Given the description of an element on the screen output the (x, y) to click on. 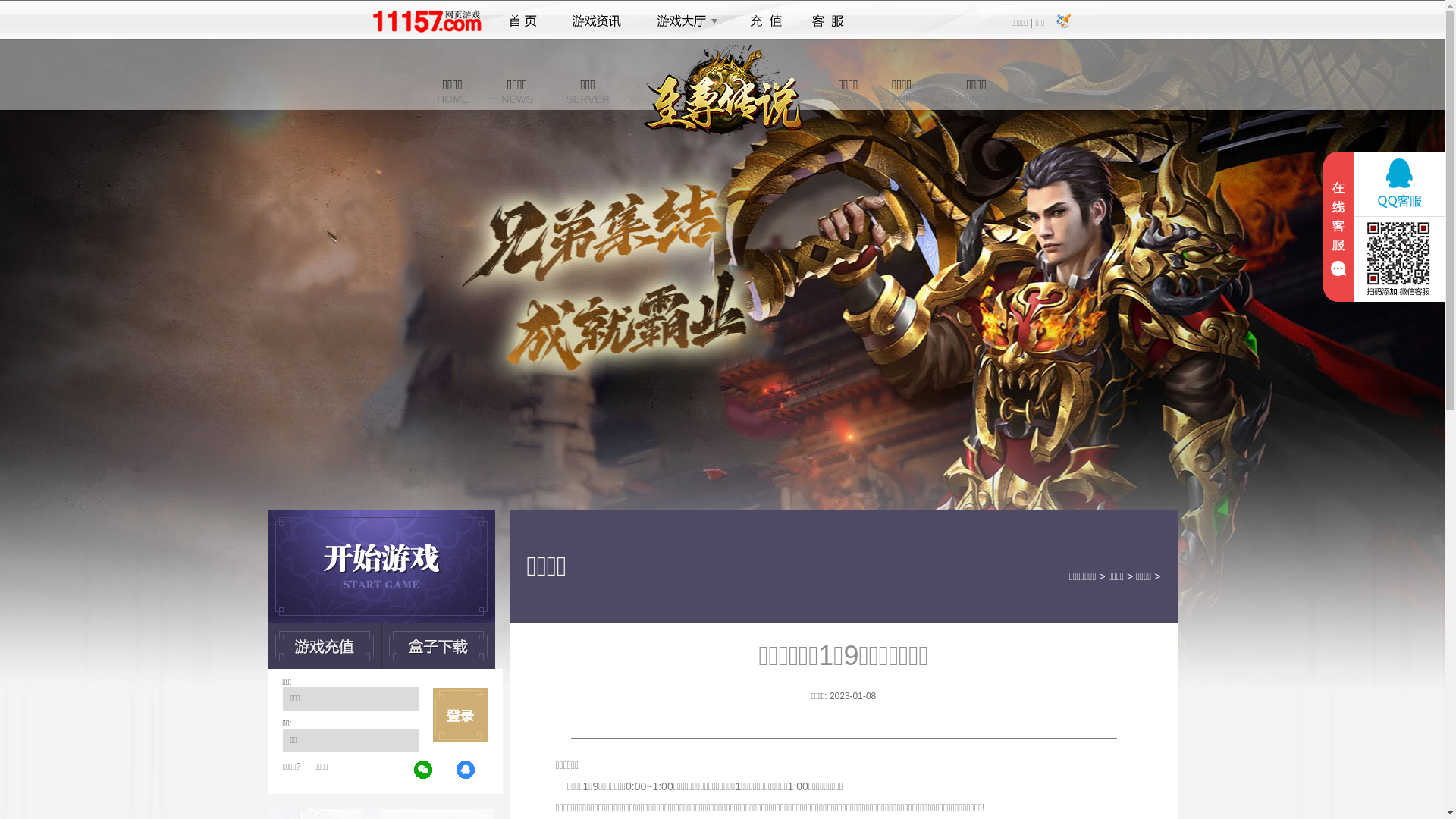
QQ Element type: hover (466, 770)
